Given the description of an element on the screen output the (x, y) to click on. 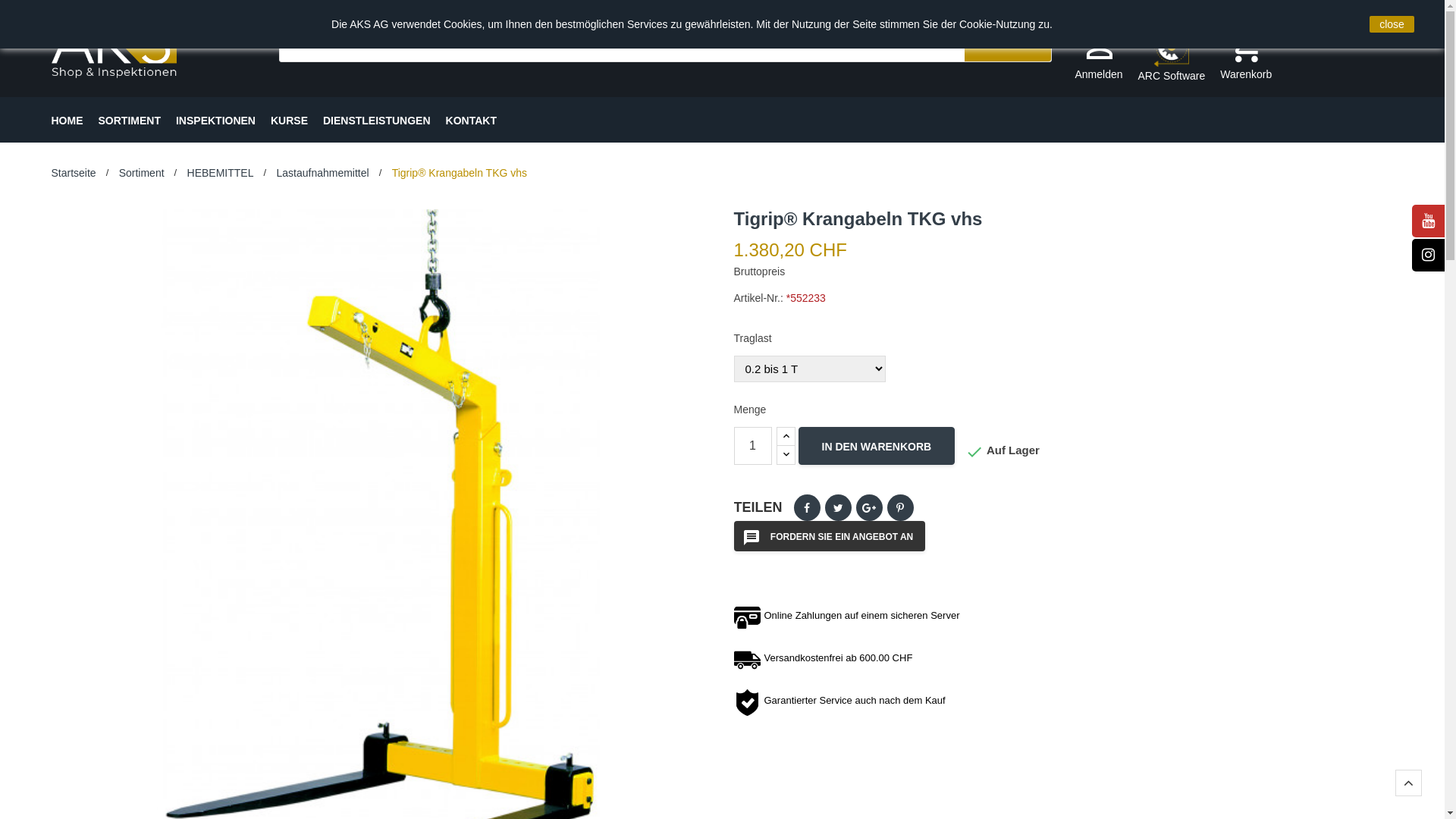
Sortiment Element type: text (141, 172)
Aktualisieren Element type: text (38, 11)
Anmelden Element type: text (1098, 55)
KURSE Element type: text (288, 120)
Lastaufnahmemittel Element type: text (322, 172)
Tweet Element type: hover (838, 507)
INSPEKTIONEN Element type: text (215, 120)
HEBEMITTEL Element type: text (220, 172)
DIENSTLEISTUNGEN Element type: text (376, 120)
close Element type: text (1391, 23)
YouTube Element type: hover (1428, 220)
SORTIMENT Element type: text (129, 120)
IN DEN WARENKORB Element type: text (875, 445)
HOME Element type: text (67, 120)
Instagram Element type: hover (1428, 254)
Pinterest Element type: hover (900, 507)
KONTAKT Element type: text (470, 120)
0
Warenkorb Element type: text (1245, 55)
Suchen Element type: text (1007, 44)
Startseite Element type: text (73, 172)
Teilen Element type: hover (806, 507)
Google+ Element type: hover (869, 507)
message FORDERN SIE EIN ANGEBOT AN Element type: text (829, 535)
ARC Software Element type: text (1171, 55)
